Given the description of an element on the screen output the (x, y) to click on. 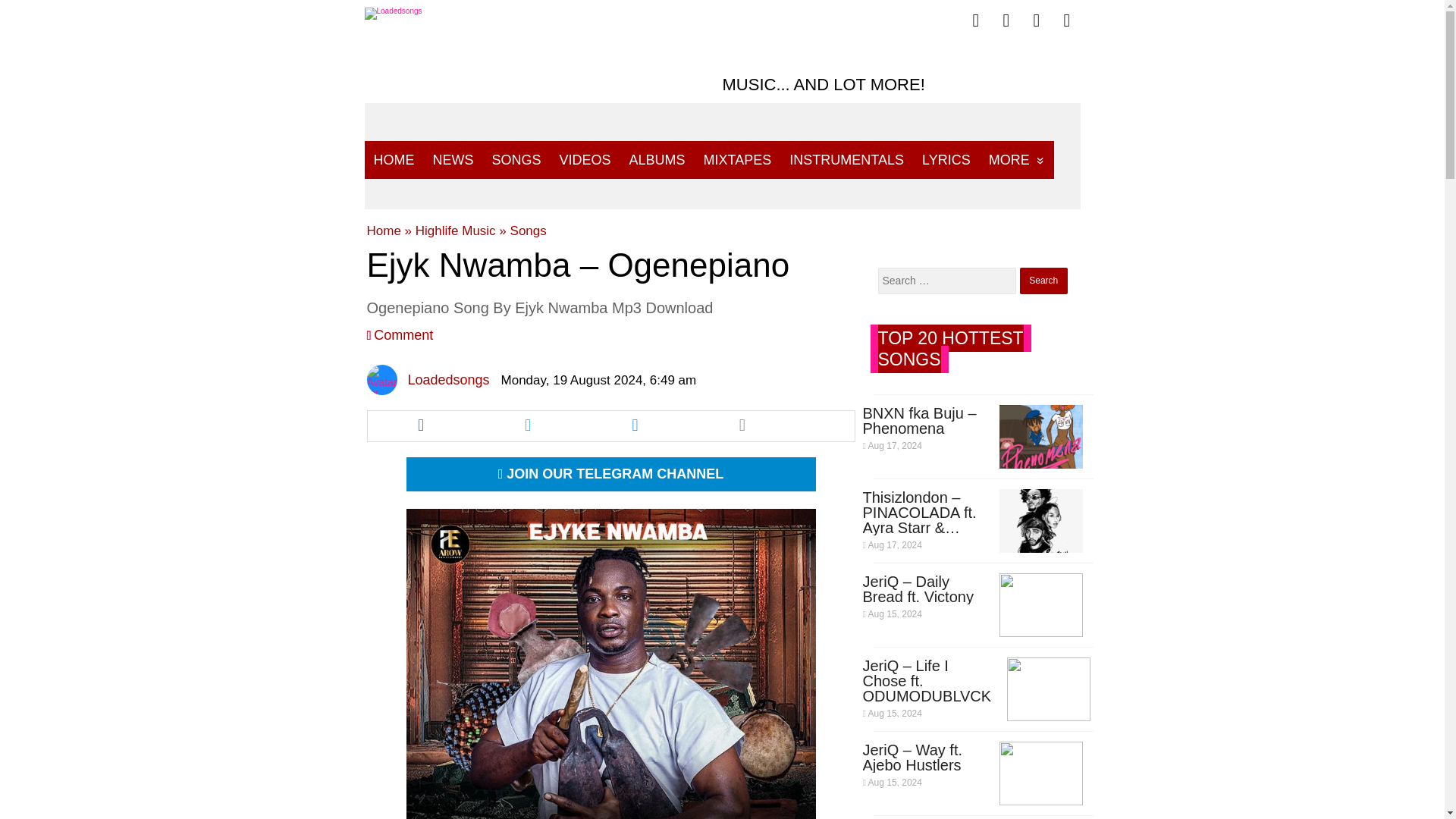
Songs (529, 230)
MIXTAPES (737, 159)
Follow Loadedsongs on Facebook (976, 20)
Highlife Music (455, 230)
SONGS (515, 159)
Loadedsongs (448, 379)
INSTRUMENTALS (846, 159)
Follow Loadedsongs on Twitter (1006, 20)
Home (383, 230)
NEWS (452, 159)
